Given the description of an element on the screen output the (x, y) to click on. 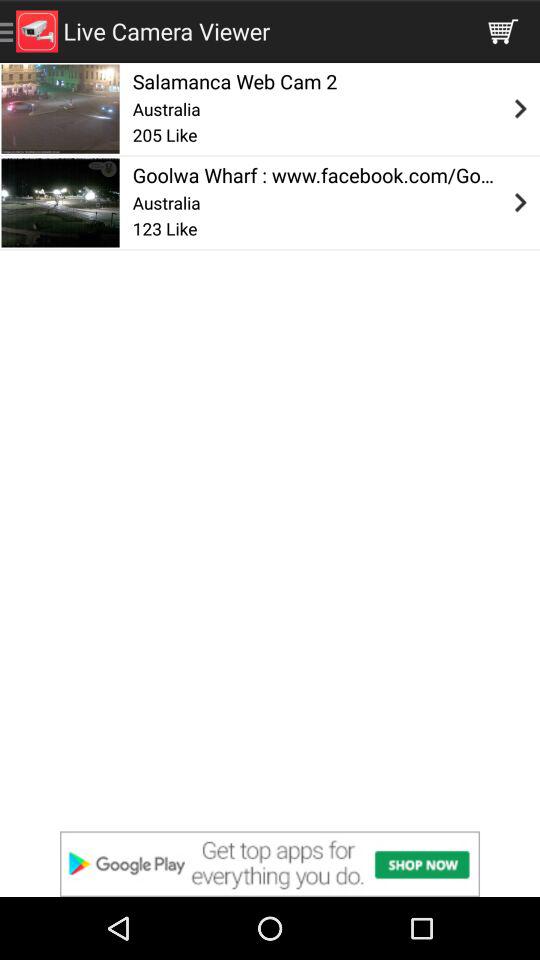
toggle to advertisement box (270, 864)
